Given the description of an element on the screen output the (x, y) to click on. 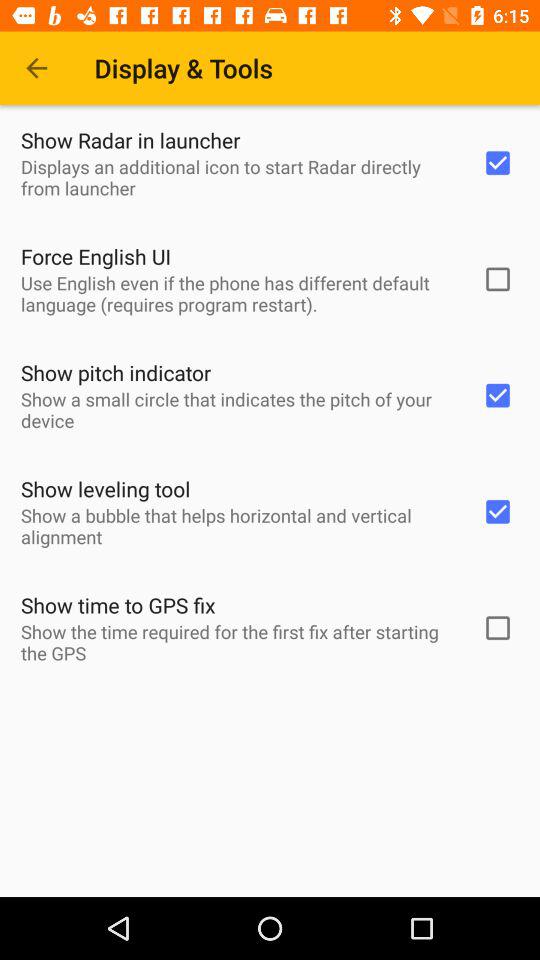
choose the show radar in icon (130, 139)
